Given the description of an element on the screen output the (x, y) to click on. 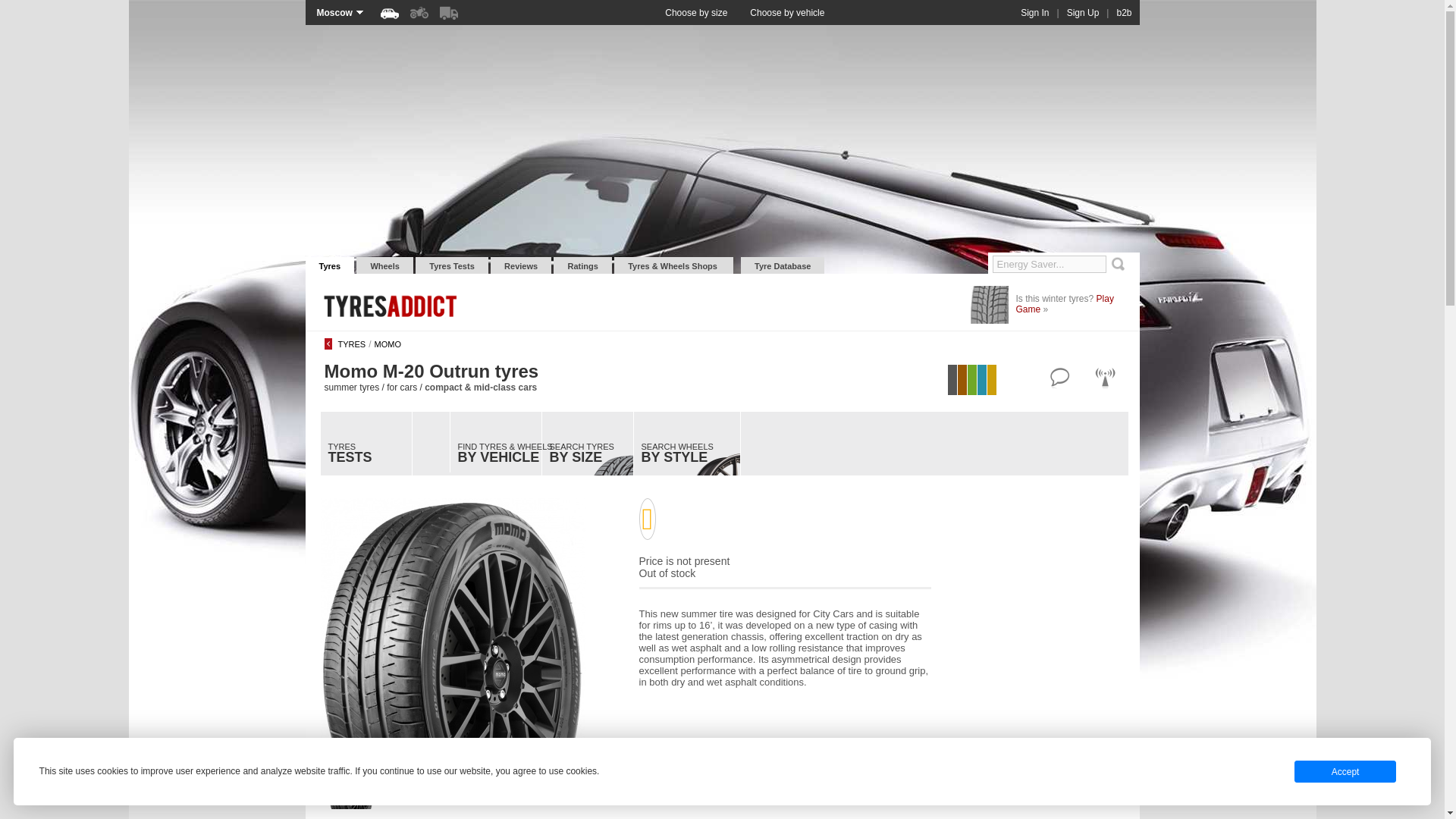
Sign In (1034, 12)
add review (1059, 376)
Energy Saver... (1048, 263)
Sign Up (1083, 12)
Momo M-20 Outrun (349, 786)
Momo M-20 Outrun (452, 630)
insert into blog (1105, 376)
b2b (1123, 12)
Moscow (339, 12)
Truck tyres (448, 12)
